Given the description of an element on the screen output the (x, y) to click on. 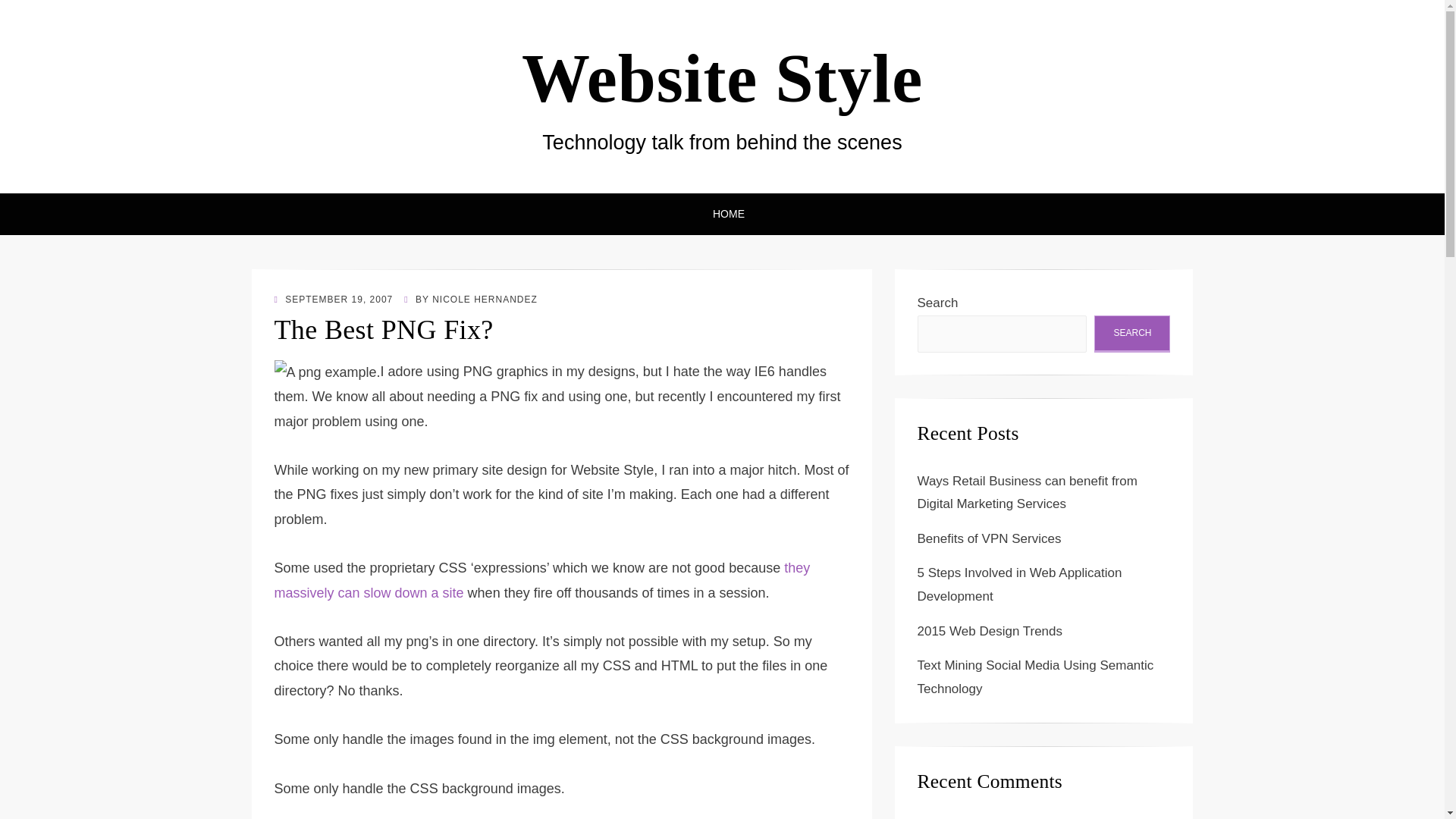
2015 Web Design Trends (989, 631)
they massively can slow down a site (542, 579)
HOME (722, 213)
Benefits of VPN Services (989, 538)
SEARCH (1132, 333)
Website Style (722, 78)
NICOLE HERNANDEZ (484, 299)
Text Mining Social Media Using Semantic Technology (1035, 677)
Website Style (722, 78)
